Given the description of an element on the screen output the (x, y) to click on. 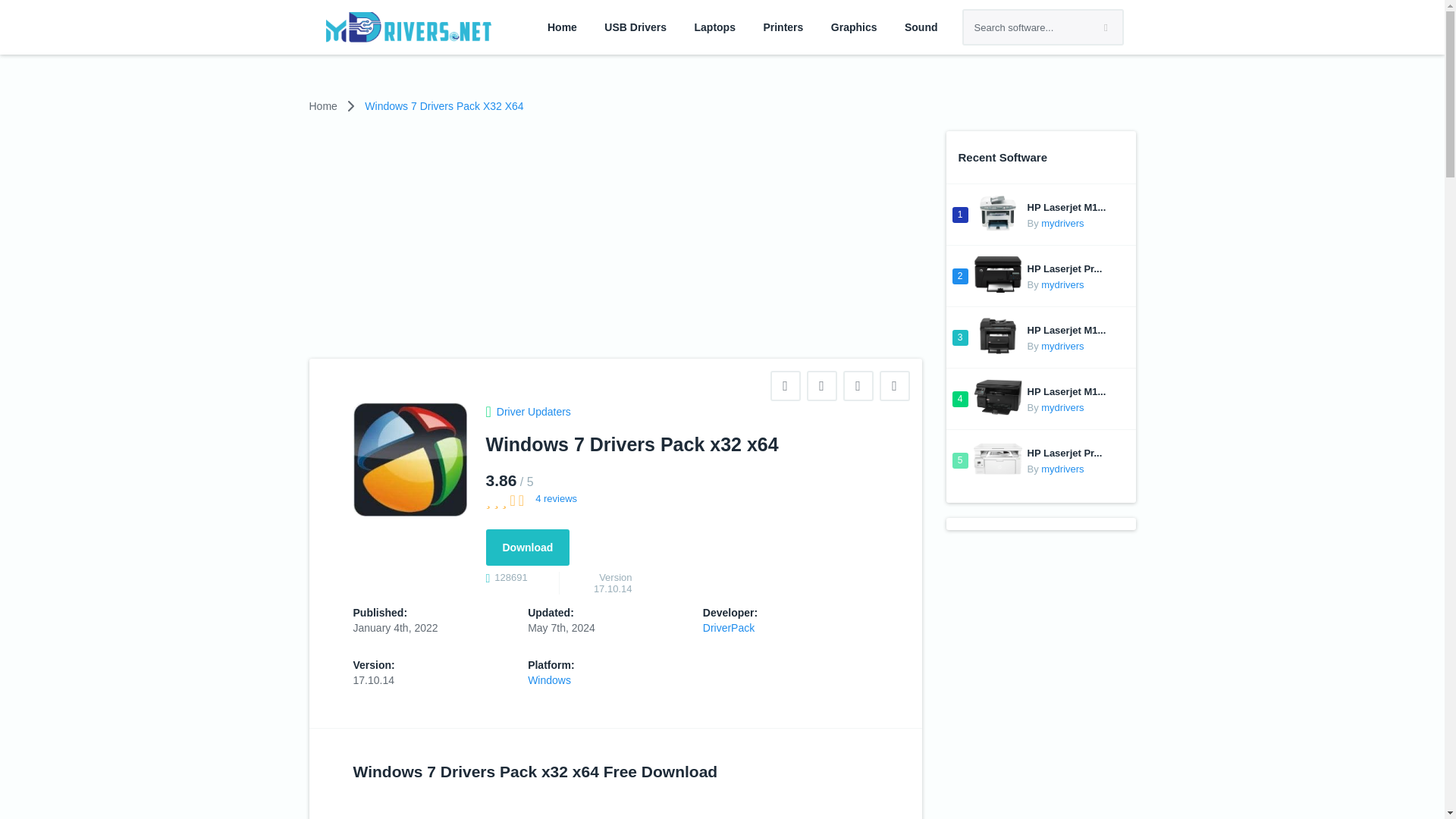
Windows 7 Drivers Pack X32 X64 (443, 106)
Windows (548, 679)
USB Drivers (635, 27)
Home (322, 106)
Download (526, 547)
Printers (782, 27)
Graphics (854, 27)
Home (561, 27)
DriverPack (728, 627)
Laptops (714, 27)
Driver Updaters (527, 411)
Sound (920, 27)
